Given the description of an element on the screen output the (x, y) to click on. 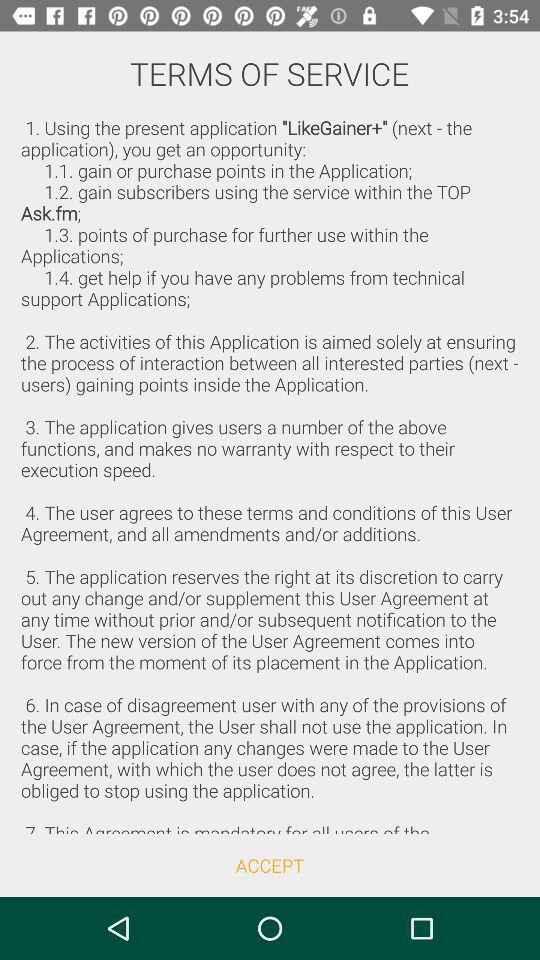
scroll until accept icon (270, 864)
